Given the description of an element on the screen output the (x, y) to click on. 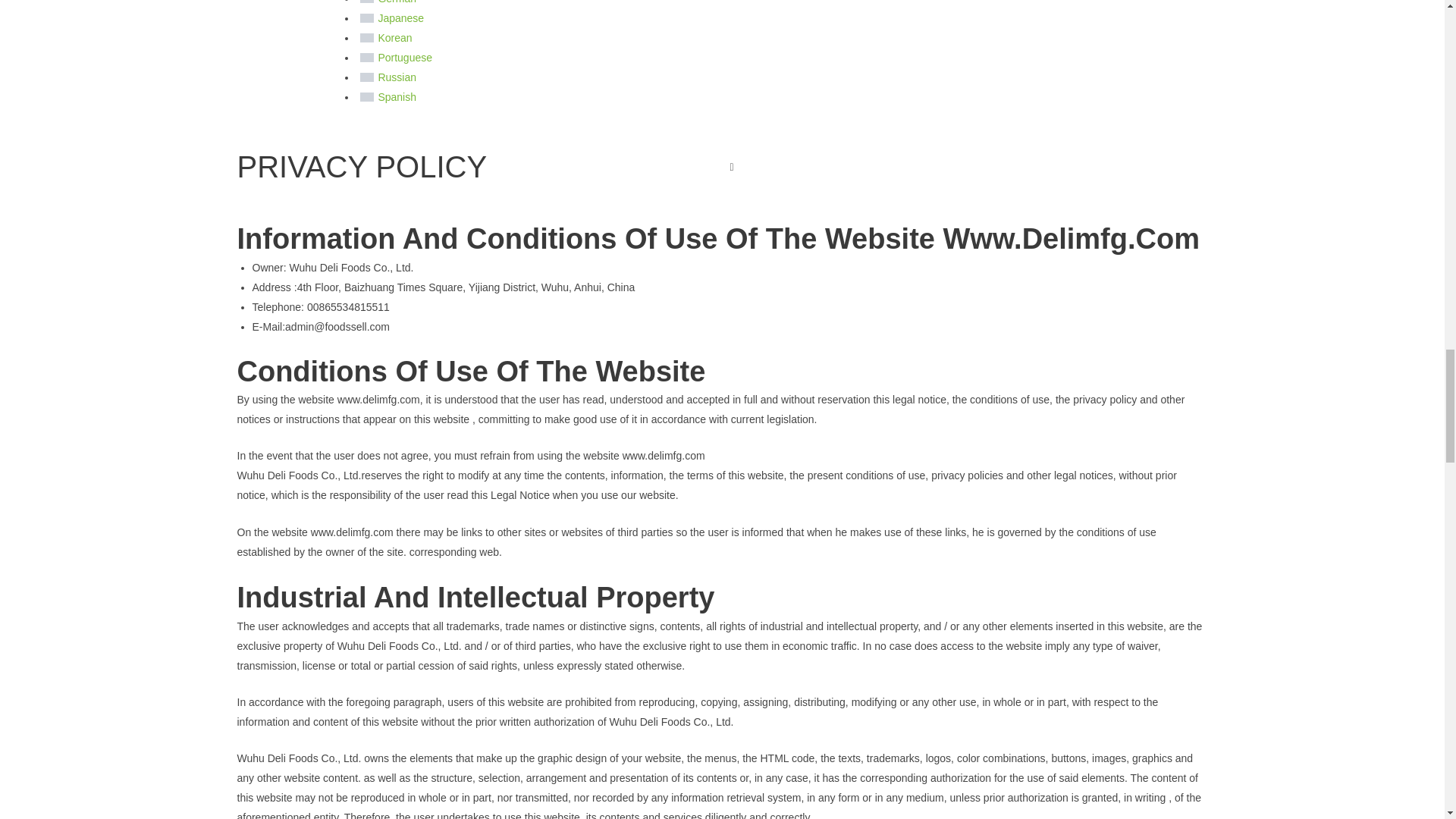
Spanish (366, 96)
German (366, 1)
Korean (366, 37)
Russian (366, 76)
Portuguese (366, 57)
Japanese (366, 17)
